Given the description of an element on the screen output the (x, y) to click on. 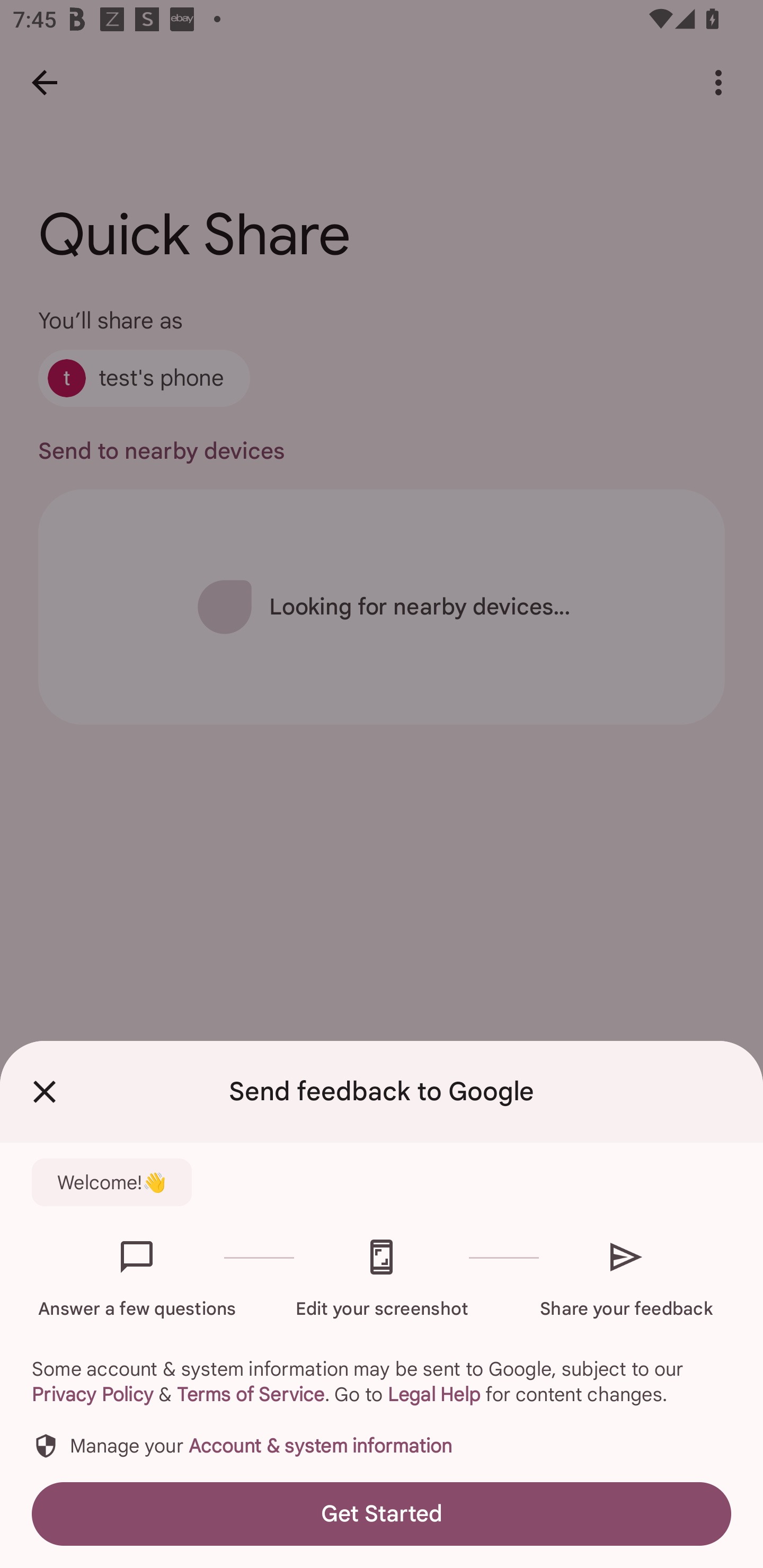
Close Feedback (44, 1091)
Get Started (381, 1513)
